Given the description of an element on the screen output the (x, y) to click on. 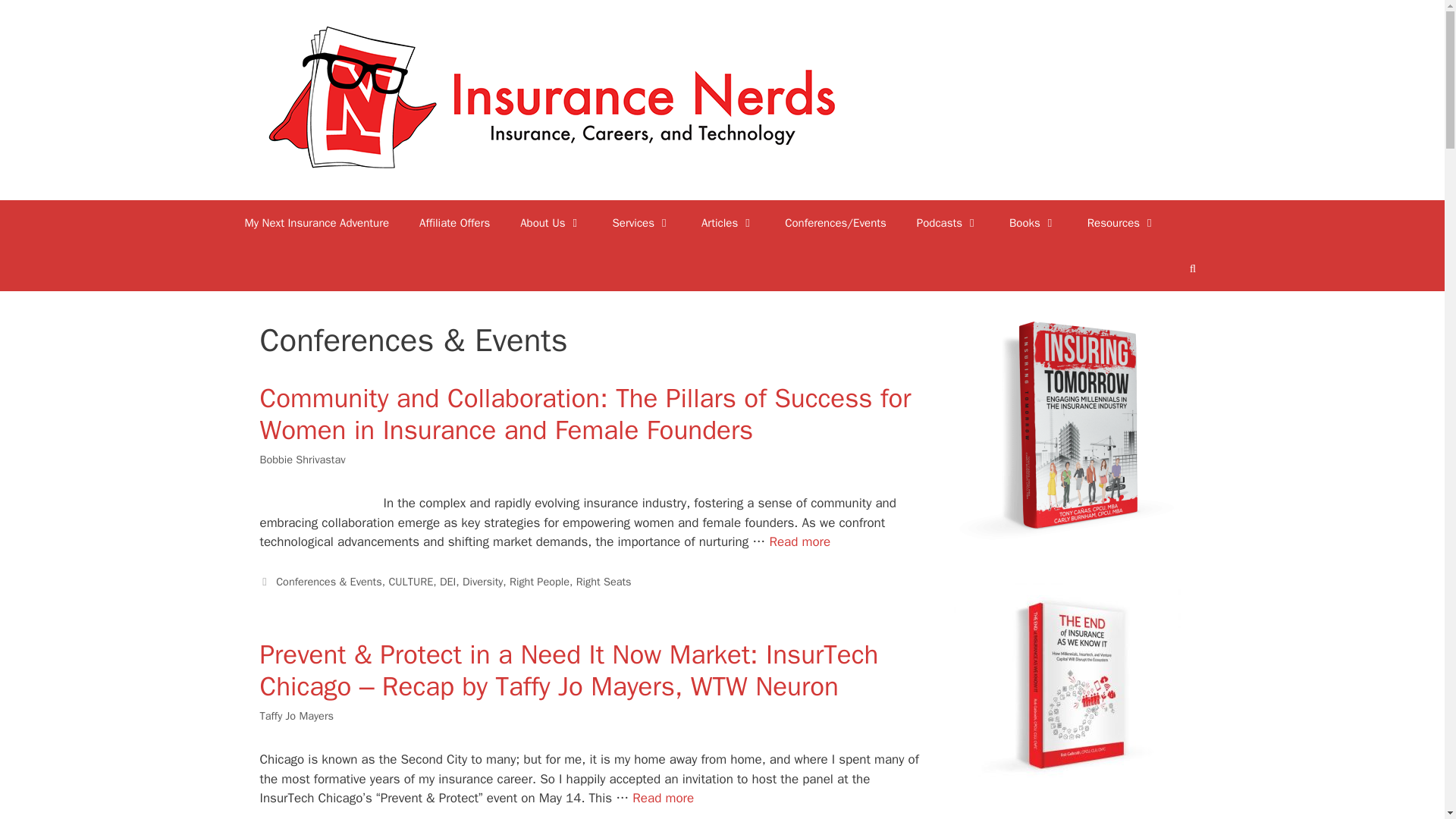
Affiliate Offers (454, 222)
Articles (727, 222)
About Us (550, 222)
Podcasts (947, 222)
Bobbie Shrivastav (302, 459)
My Next Insurance Adventure (316, 222)
Services (640, 222)
Taffy Jo Mayers (296, 715)
Books (1032, 222)
